Given the description of an element on the screen output the (x, y) to click on. 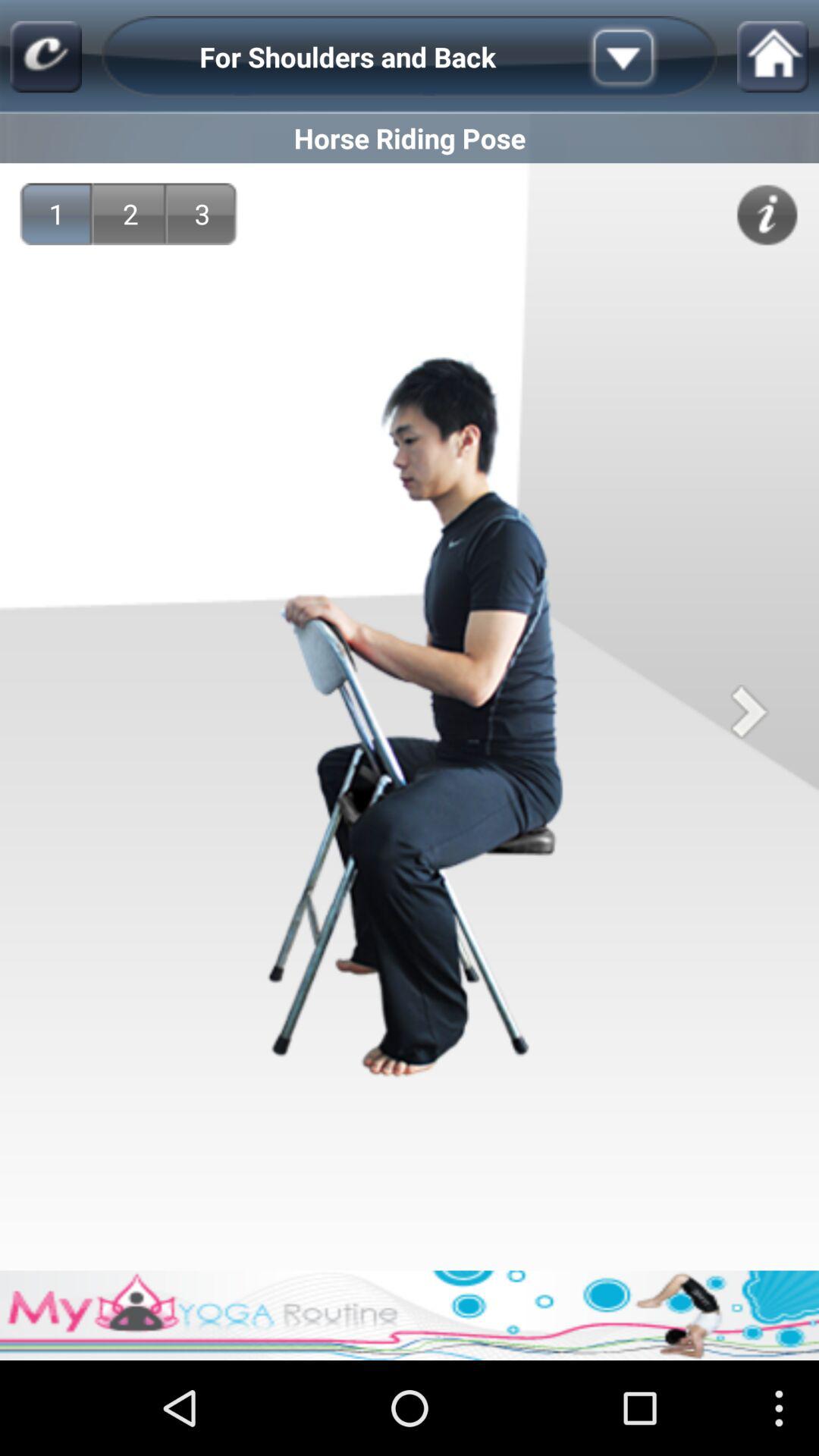
press the item next to the 1 item (130, 214)
